Given the description of an element on the screen output the (x, y) to click on. 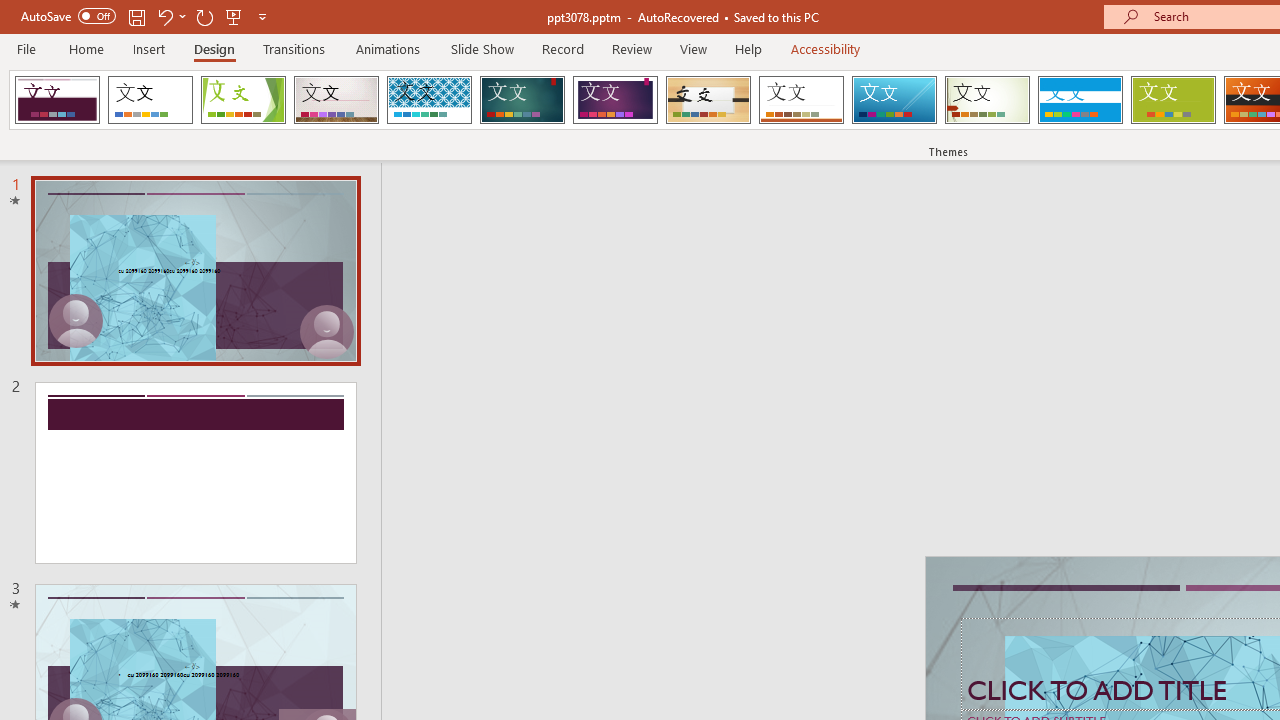
Organic (708, 100)
Banded (1080, 100)
Ion Boardroom (615, 100)
Ion (522, 100)
